Given the description of an element on the screen output the (x, y) to click on. 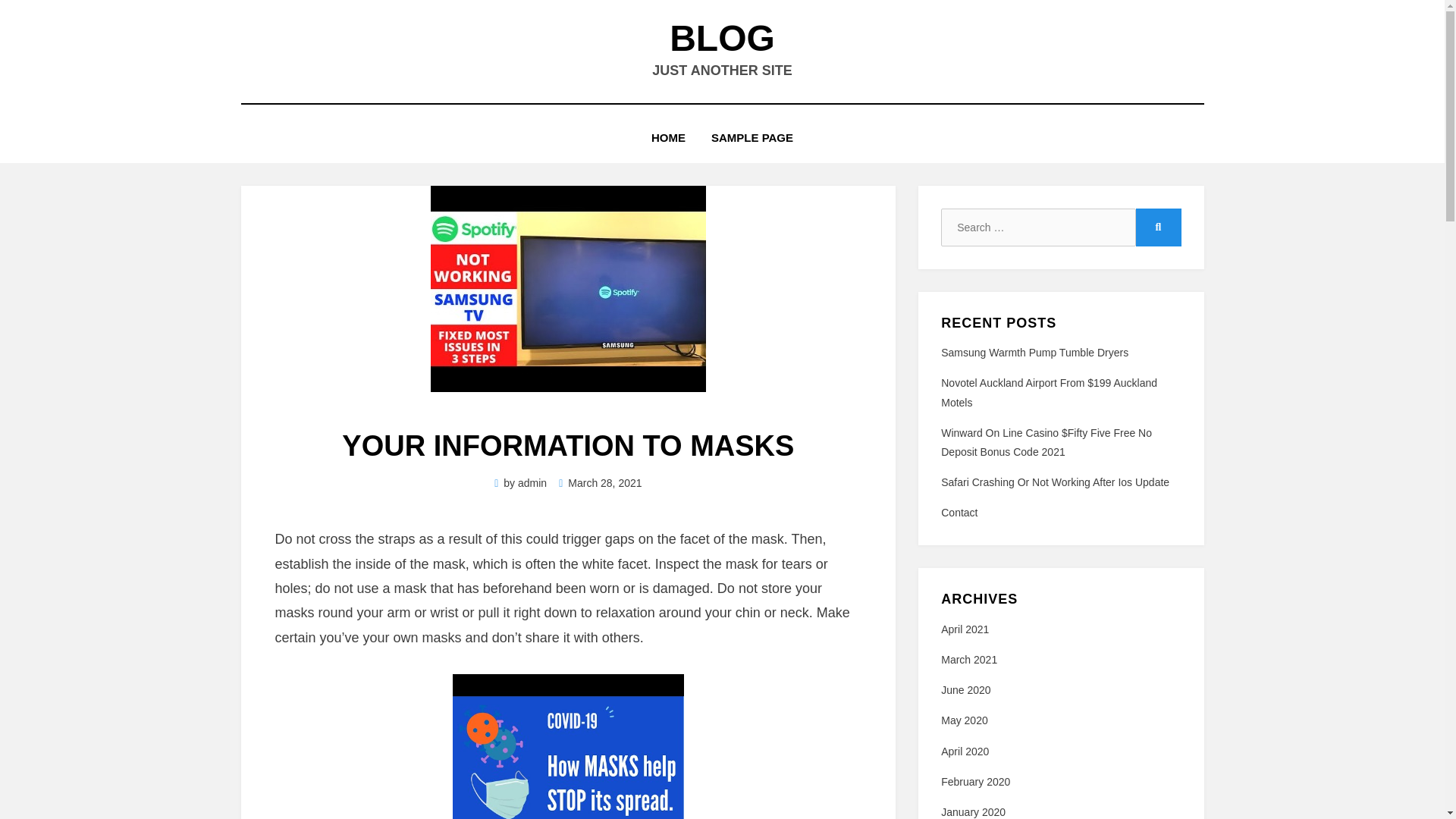
April 2021 (964, 629)
Search (1157, 227)
March 2021 (968, 659)
BLOG (721, 38)
HOME (668, 137)
Safari Crashing Or Not Working After Ios Update (1054, 481)
June 2020 (965, 689)
April 2020 (964, 751)
March 28, 2021 (600, 482)
January 2020 (973, 811)
